Given the description of an element on the screen output the (x, y) to click on. 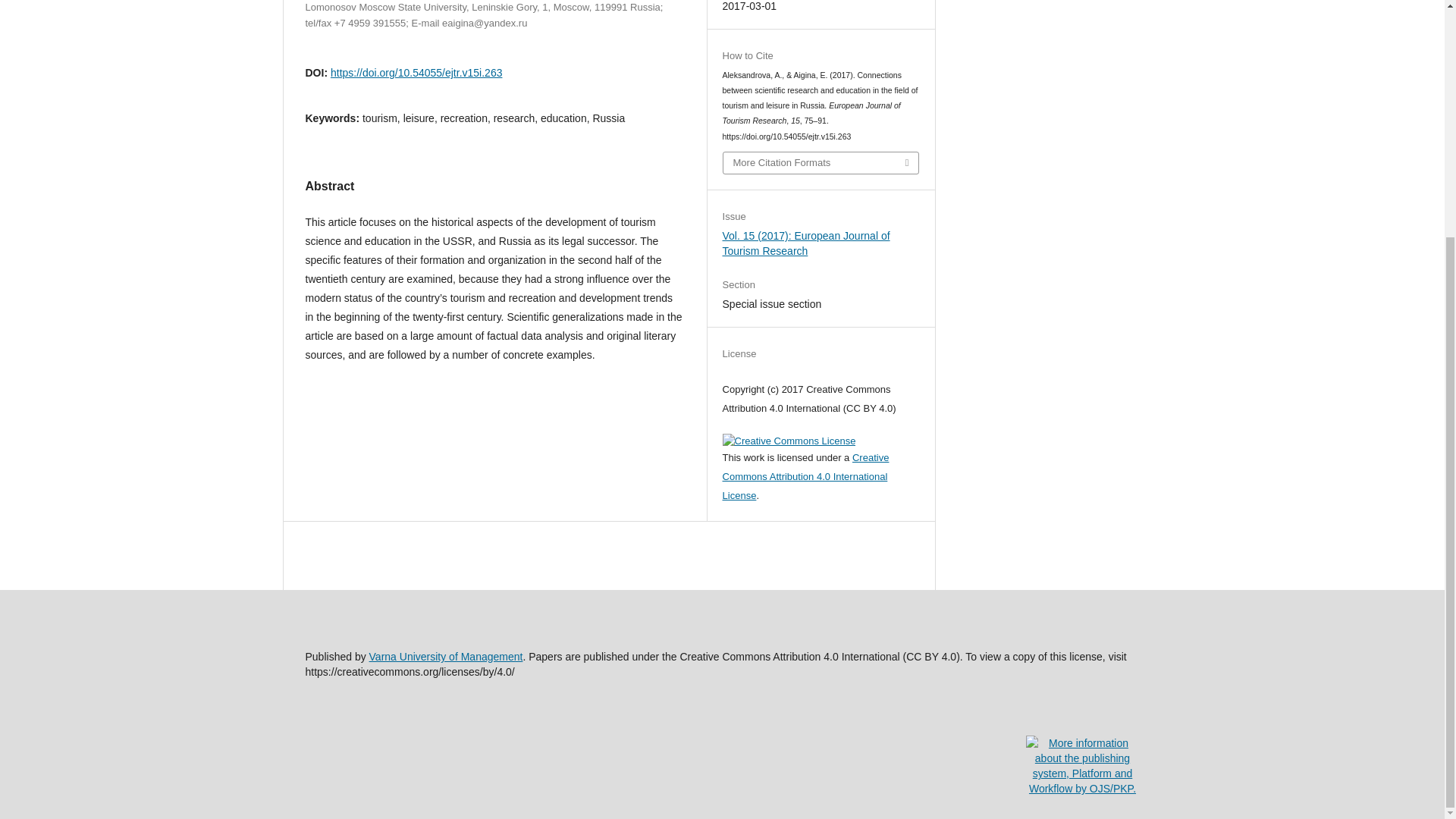
More Citation Formats (820, 162)
